Given the description of an element on the screen output the (x, y) to click on. 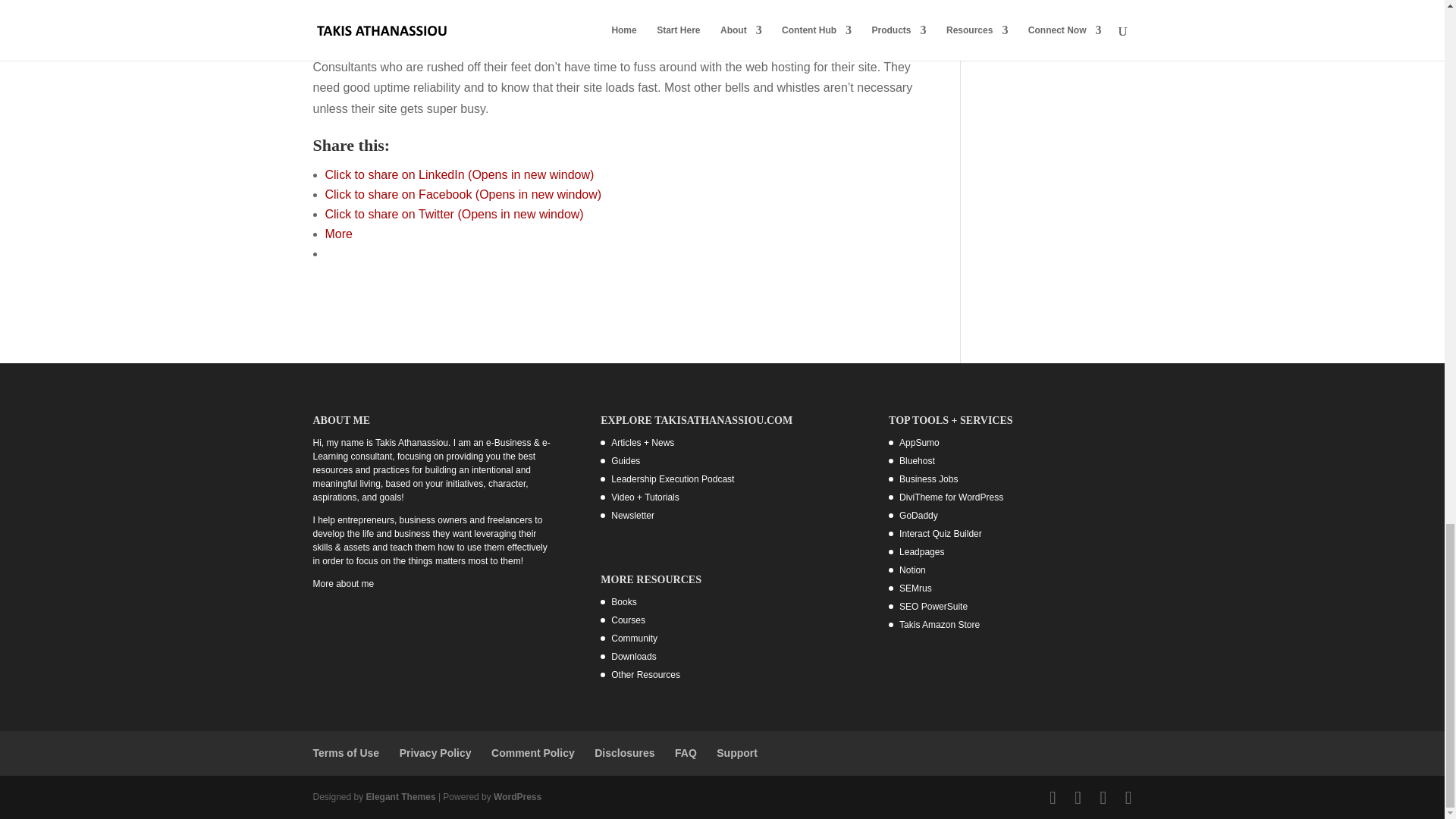
Click to share on Facebook (462, 194)
Click to share on Twitter (453, 214)
Click to share on LinkedIn (459, 174)
